Given the description of an element on the screen output the (x, y) to click on. 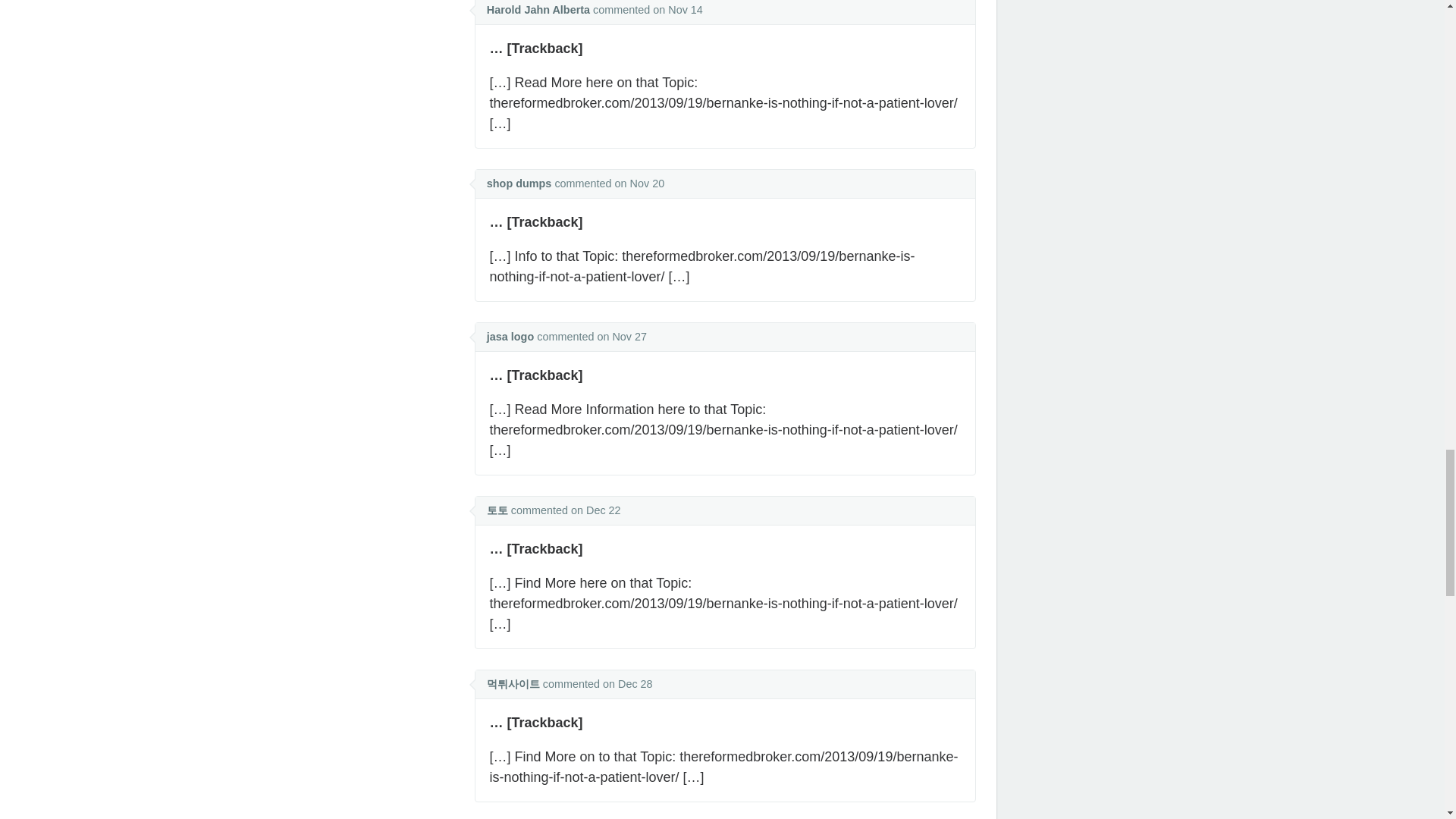
jasa logo (510, 336)
Harold Jahn Alberta (537, 9)
shop dumps (518, 183)
